Given the description of an element on the screen output the (x, y) to click on. 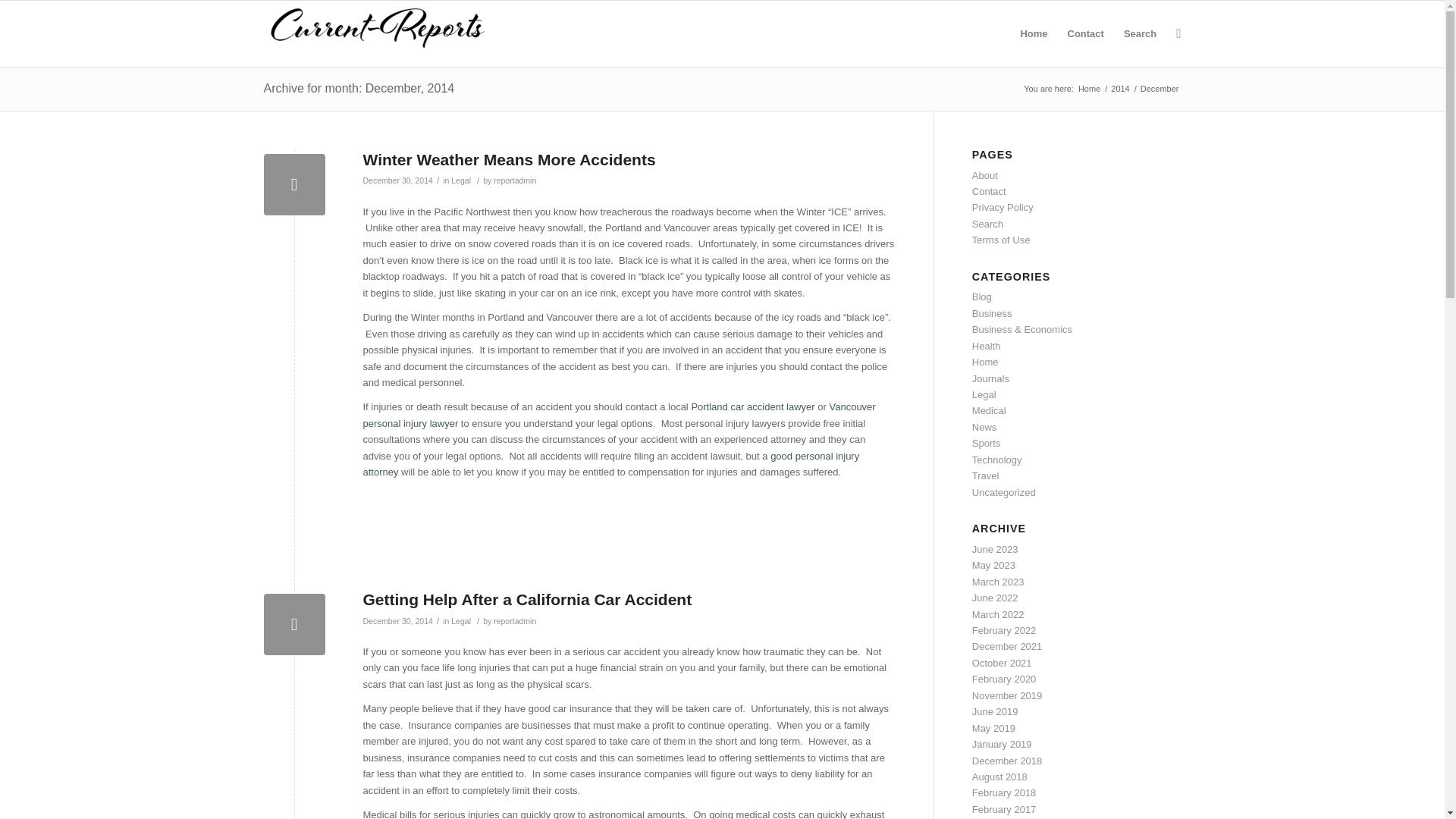
Permanent Link: Winter Weather Means More Accidents (508, 159)
2014 (1119, 89)
reportadmin (514, 180)
Current Reports (1088, 89)
Getting Help After a California Car Accident (526, 599)
Permanent Link: Getting Help After a California Car Accident (526, 599)
About (984, 174)
Legal (460, 180)
Getting Help After a California Car Accident (293, 624)
good personal injury attorney (610, 463)
reportadmin (514, 619)
Home (1088, 89)
Legal (460, 619)
Winter Weather Means More Accidents (293, 184)
Vancouver personal injury lawyer (618, 414)
